Given the description of an element on the screen output the (x, y) to click on. 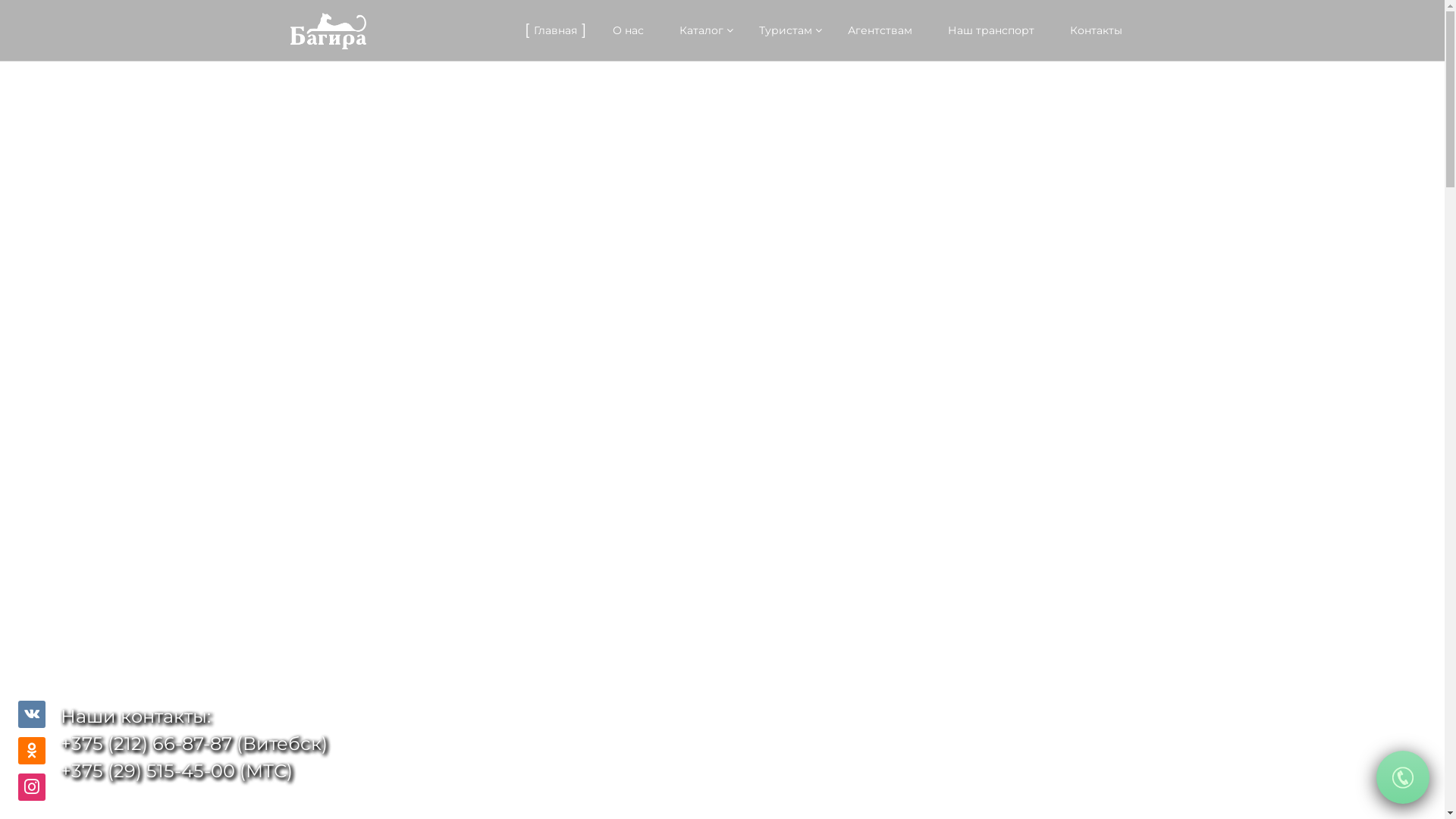
odnoklassniki Element type: text (31, 750)
Logo Element type: hover (327, 30)
instagram Element type: text (31, 785)
vkontakte Element type: text (31, 714)
